Given the description of an element on the screen output the (x, y) to click on. 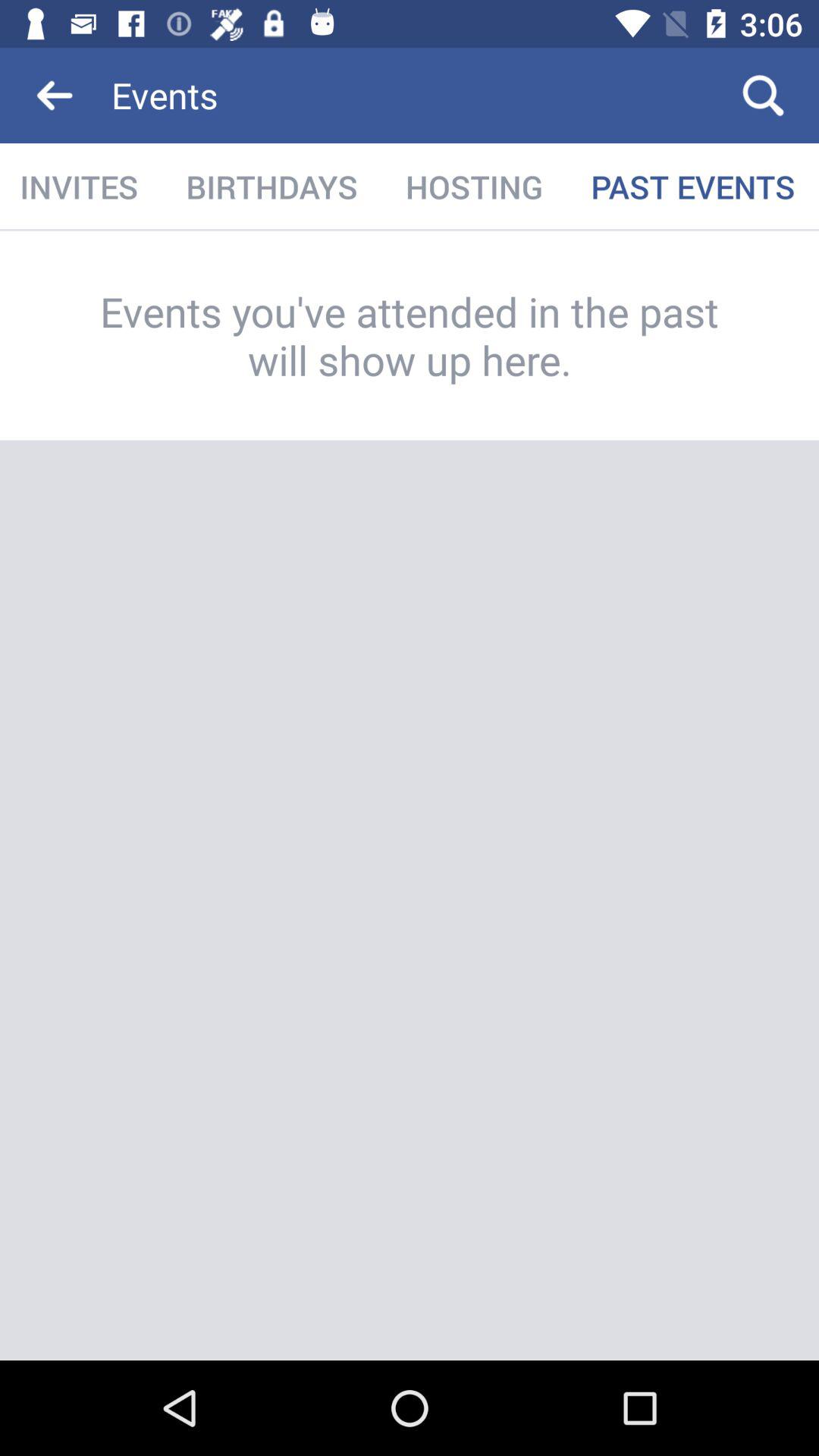
turn off the icon to the left of hosting (271, 186)
